Given the description of an element on the screen output the (x, y) to click on. 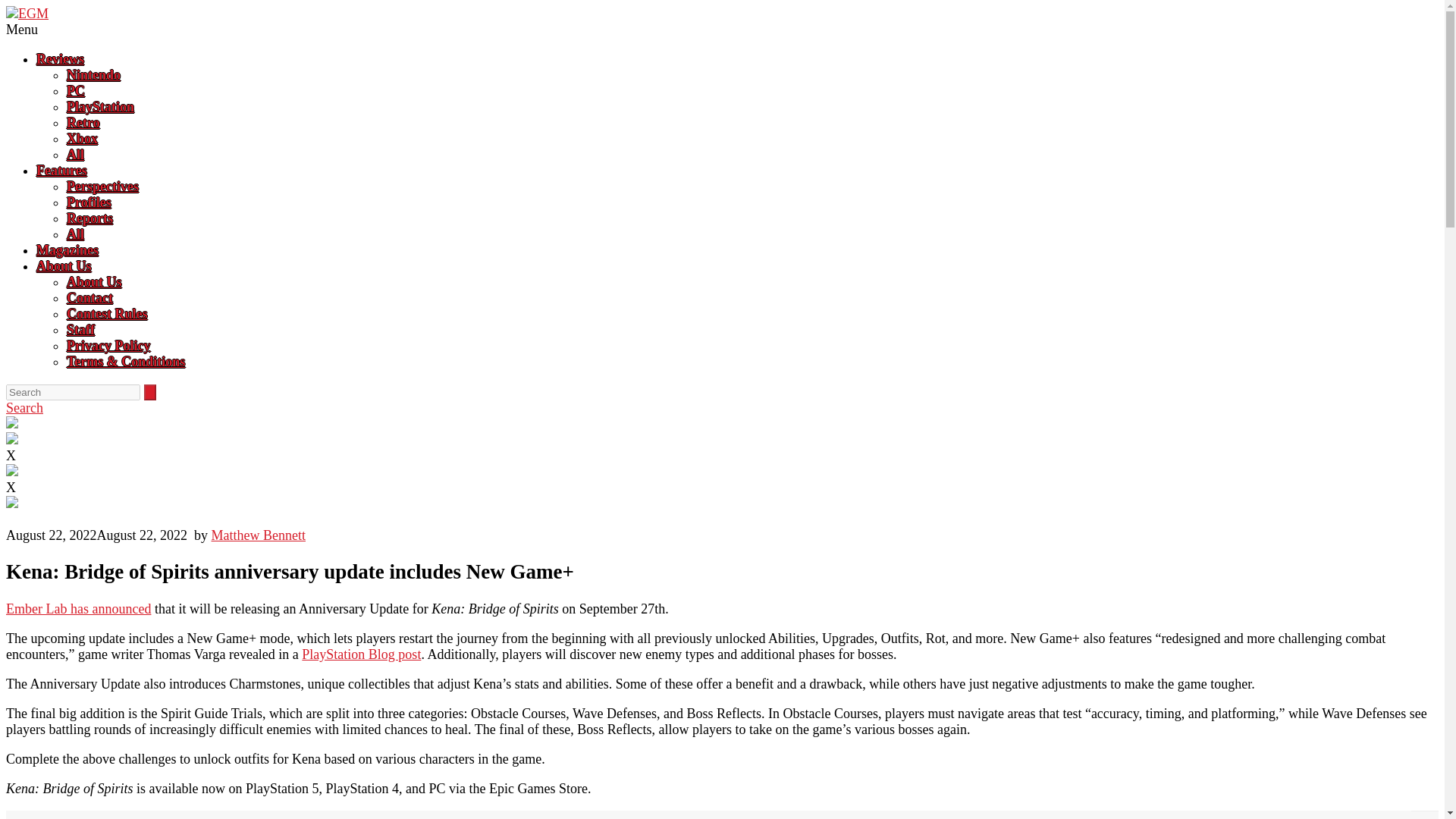
About Us (94, 281)
Perspectives (102, 186)
Privacy Policy (107, 345)
About Us (63, 265)
Matthew Bennett (258, 534)
All (75, 154)
Ember Lab has announced (78, 608)
PC (75, 90)
Reports (89, 218)
Retro (83, 122)
